Given the description of an element on the screen output the (x, y) to click on. 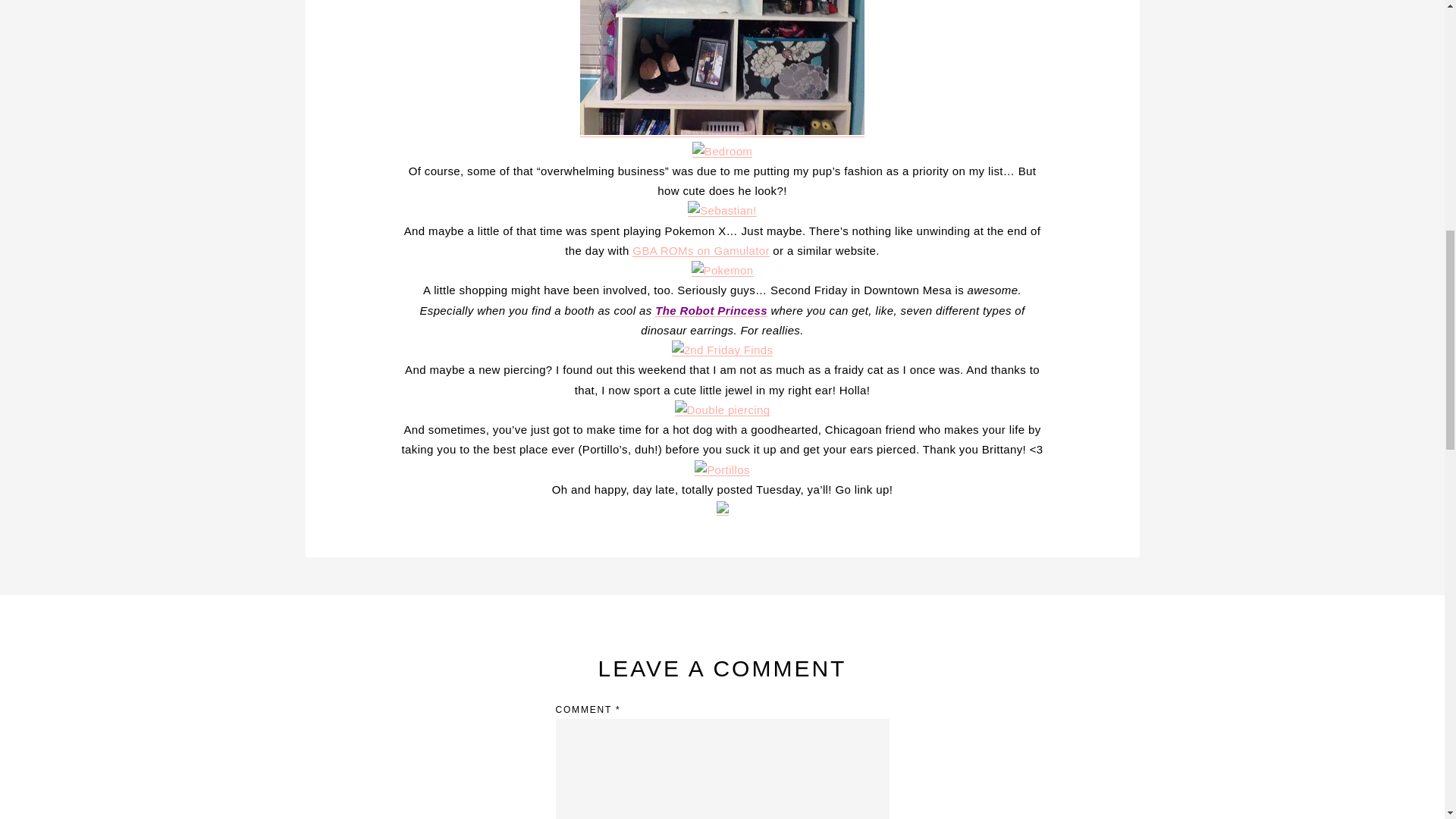
Sebastian! by sincerelydanirose, on Flickr (722, 210)
Portillos by sincerelydanirose, on Flickr (721, 469)
IASW Wall by sincerelydanirose, on Flickr (721, 130)
The Robot Princess (711, 309)
Double piercing by sincerelydanirose, on Flickr (722, 409)
Bedroom by sincerelydanirose, on Flickr (722, 151)
2nd Friday Finds by sincerelydanirose, on Flickr (722, 349)
GBA ROMs on Gamulator (699, 250)
Pokemon by sincerelydanirose, on Flickr (722, 269)
